Given the description of an element on the screen output the (x, y) to click on. 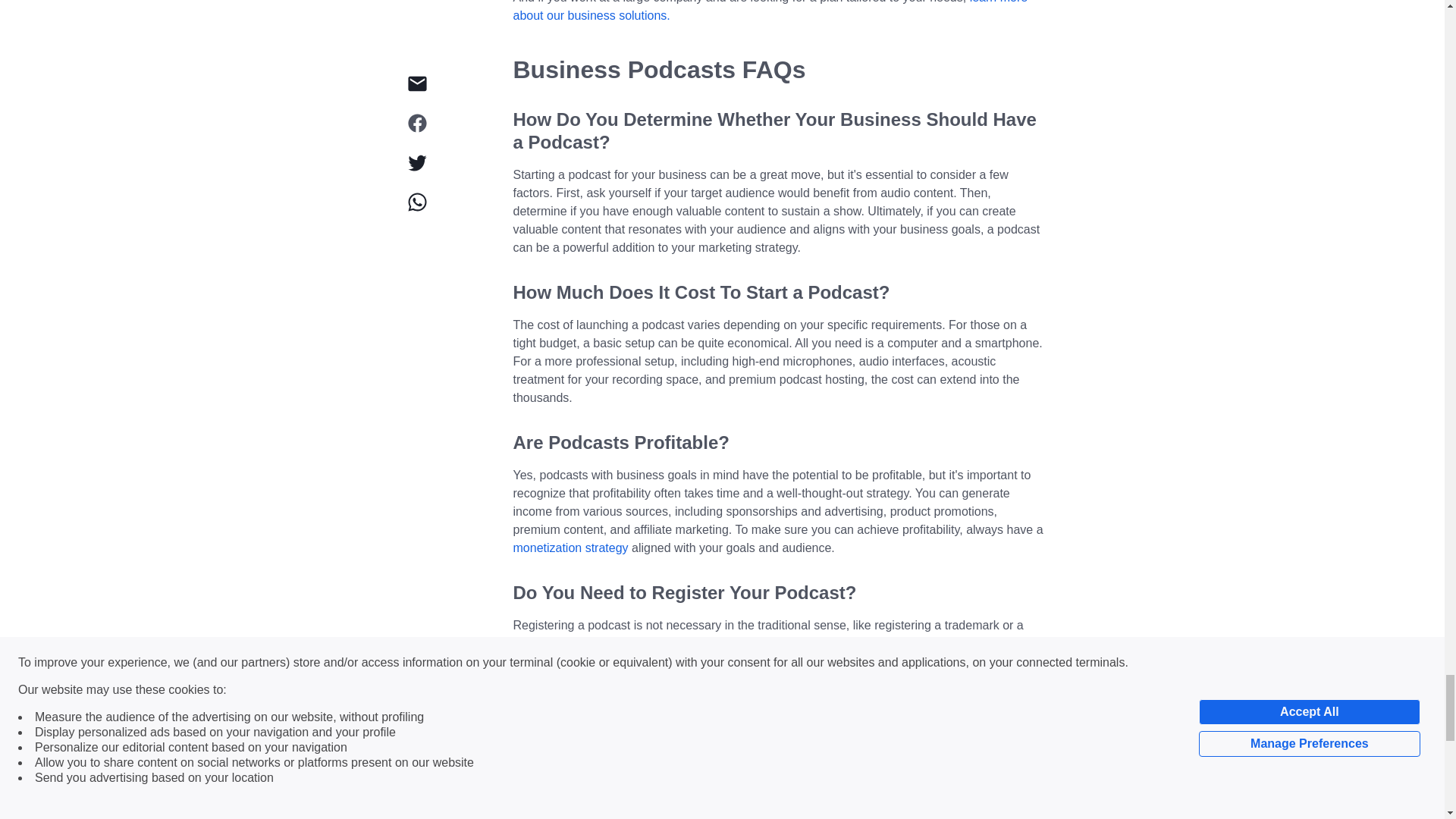
learn more about our business solutions. (769, 11)
